Given the description of an element on the screen output the (x, y) to click on. 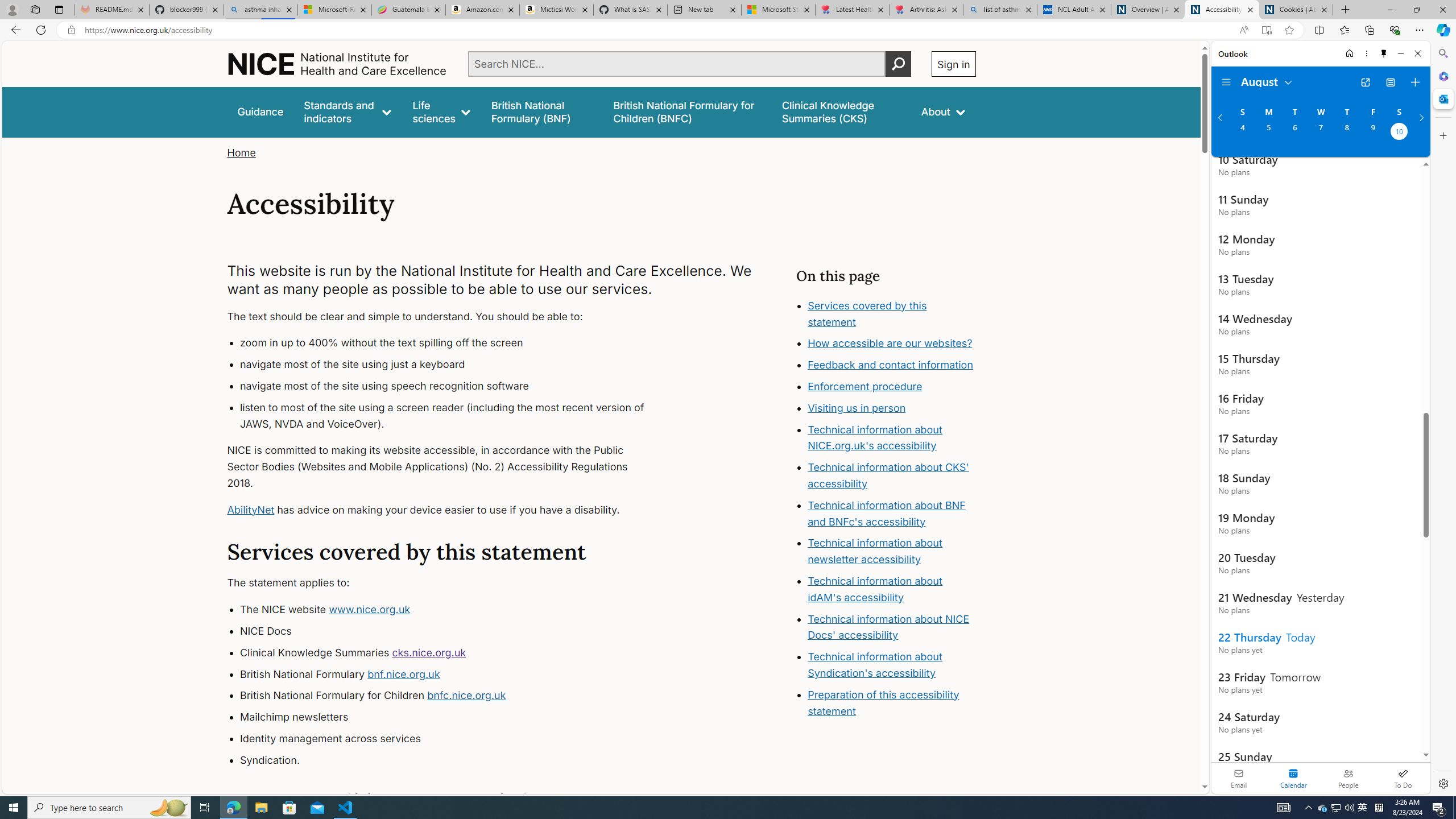
Accessibility | NICE (1221, 9)
cks.nice.org.uk (428, 652)
Technical information about NICE Docs' accessibility (888, 626)
Enforcement procedure (891, 386)
